Given the description of an element on the screen output the (x, y) to click on. 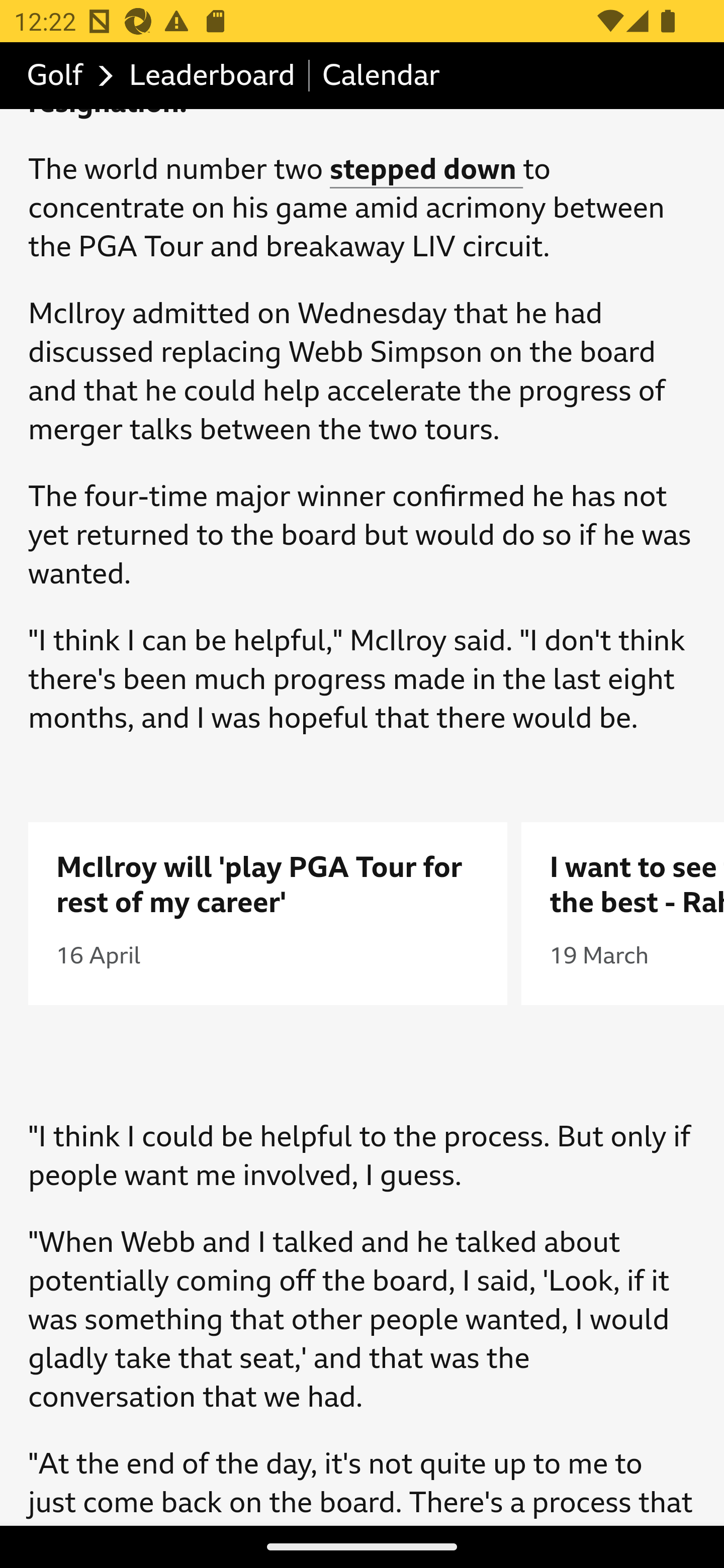
stepped down  (426, 169)
McIlroy will 'play PGA Tour for rest of my career' (268, 885)
